Given the description of an element on the screen output the (x, y) to click on. 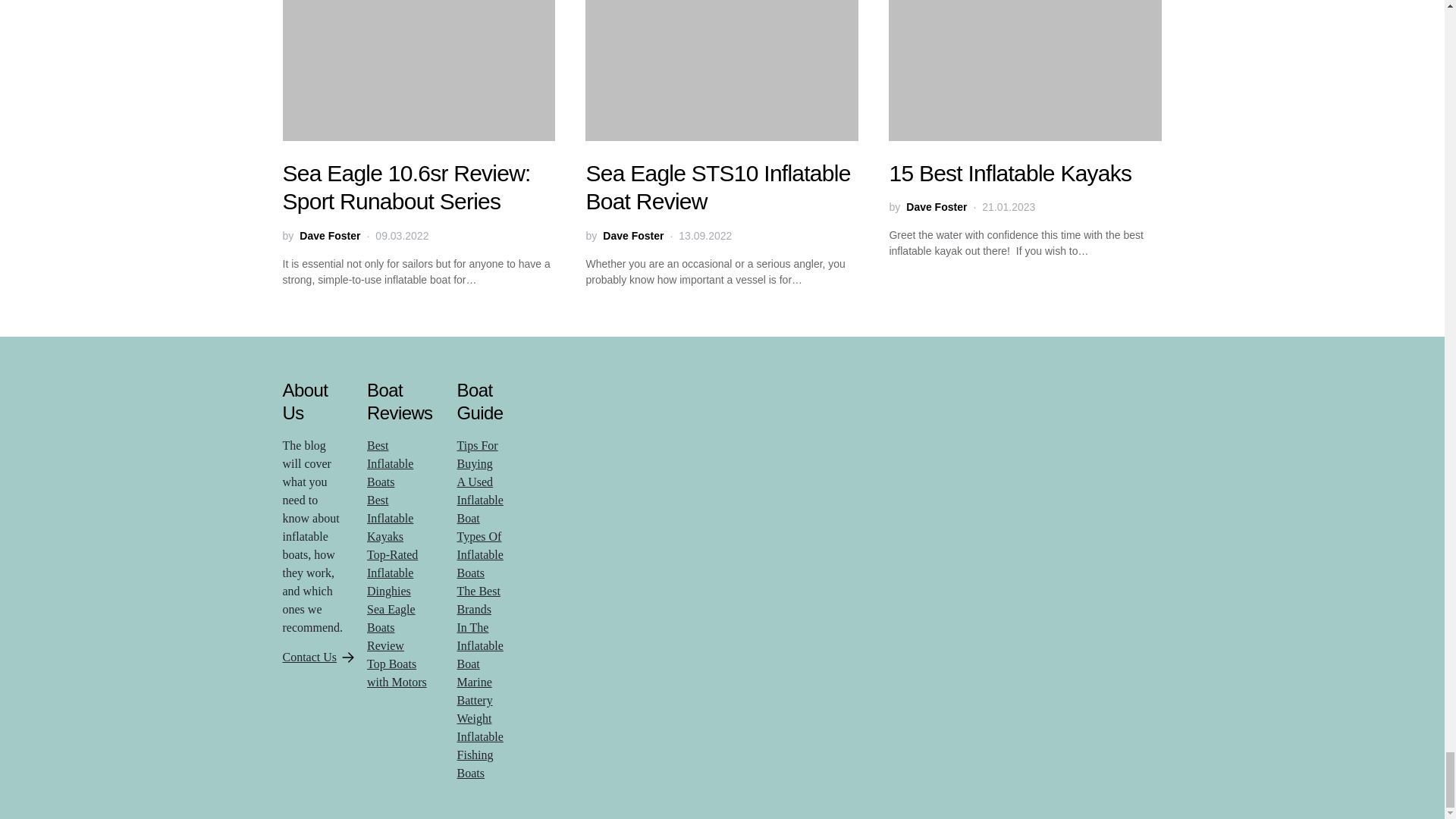
View all posts by Dave Foster (935, 207)
View all posts by Dave Foster (632, 236)
View all posts by Dave Foster (329, 236)
